Given the description of an element on the screen output the (x, y) to click on. 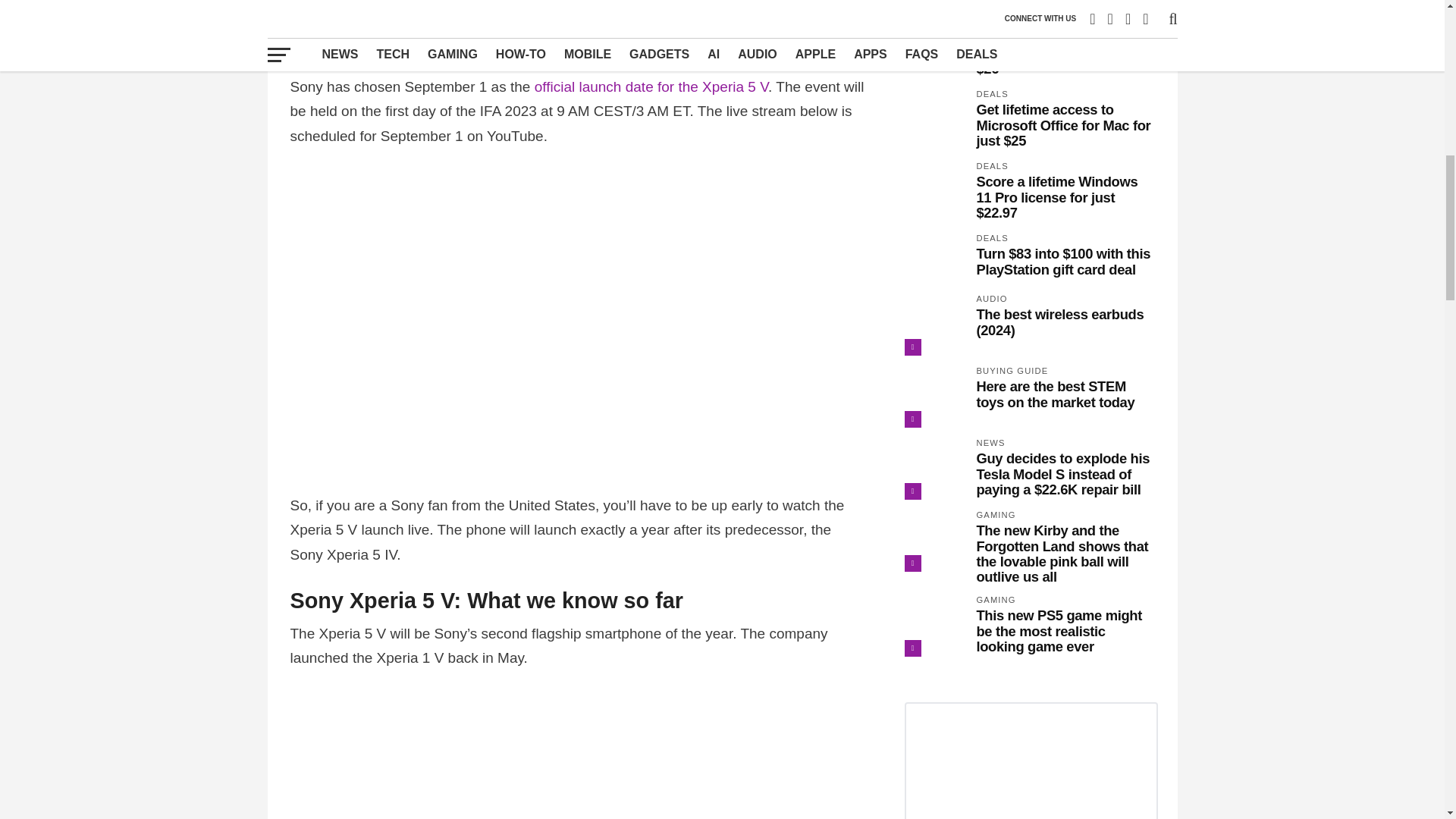
official launch date for the Xperia 5 V (651, 86)
